Given the description of an element on the screen output the (x, y) to click on. 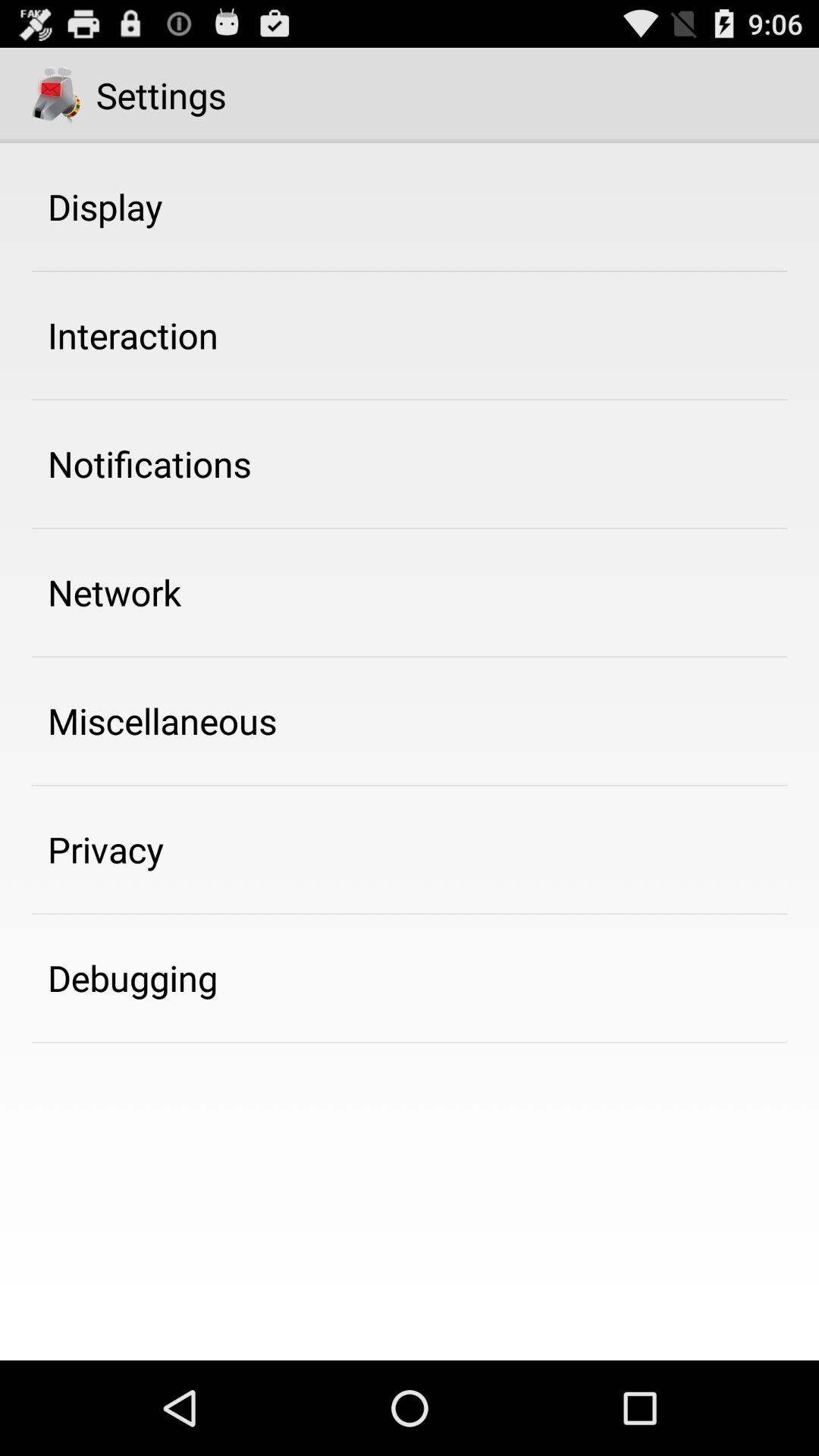
click the app at the bottom left corner (132, 977)
